Given the description of an element on the screen output the (x, y) to click on. 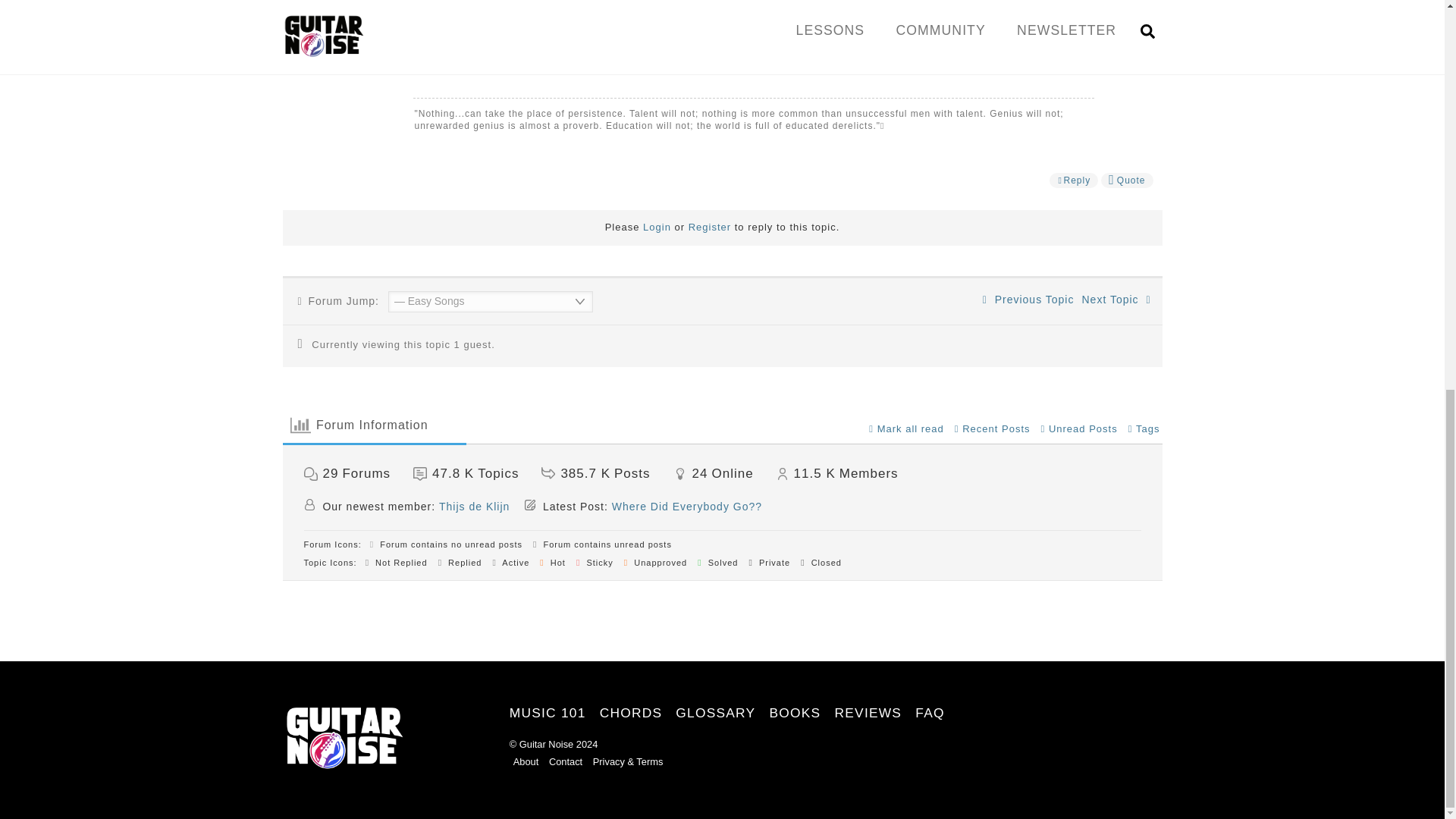
Tags (1144, 428)
Next Topic   (1115, 299)
Unread Posts (1079, 428)
Recent Posts (992, 428)
Mark all read (906, 428)
Login (657, 226)
  Previous Topic (1028, 299)
Thijs de Klijn (474, 506)
Register (709, 226)
Where Did Everybody Go?? (686, 506)
